Given the description of an element on the screen output the (x, y) to click on. 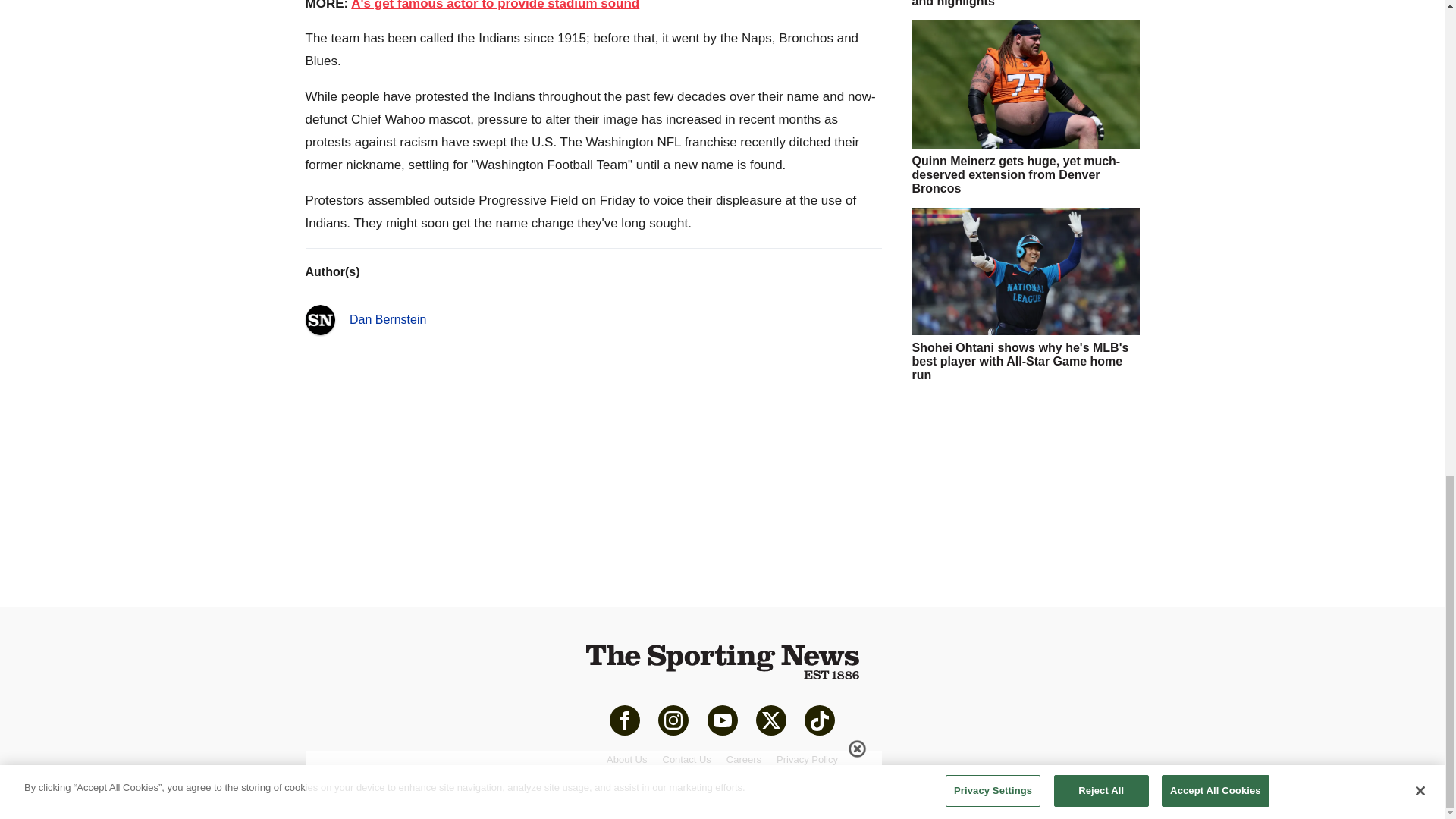
3rd party ad content (1024, 488)
